Given the description of an element on the screen output the (x, y) to click on. 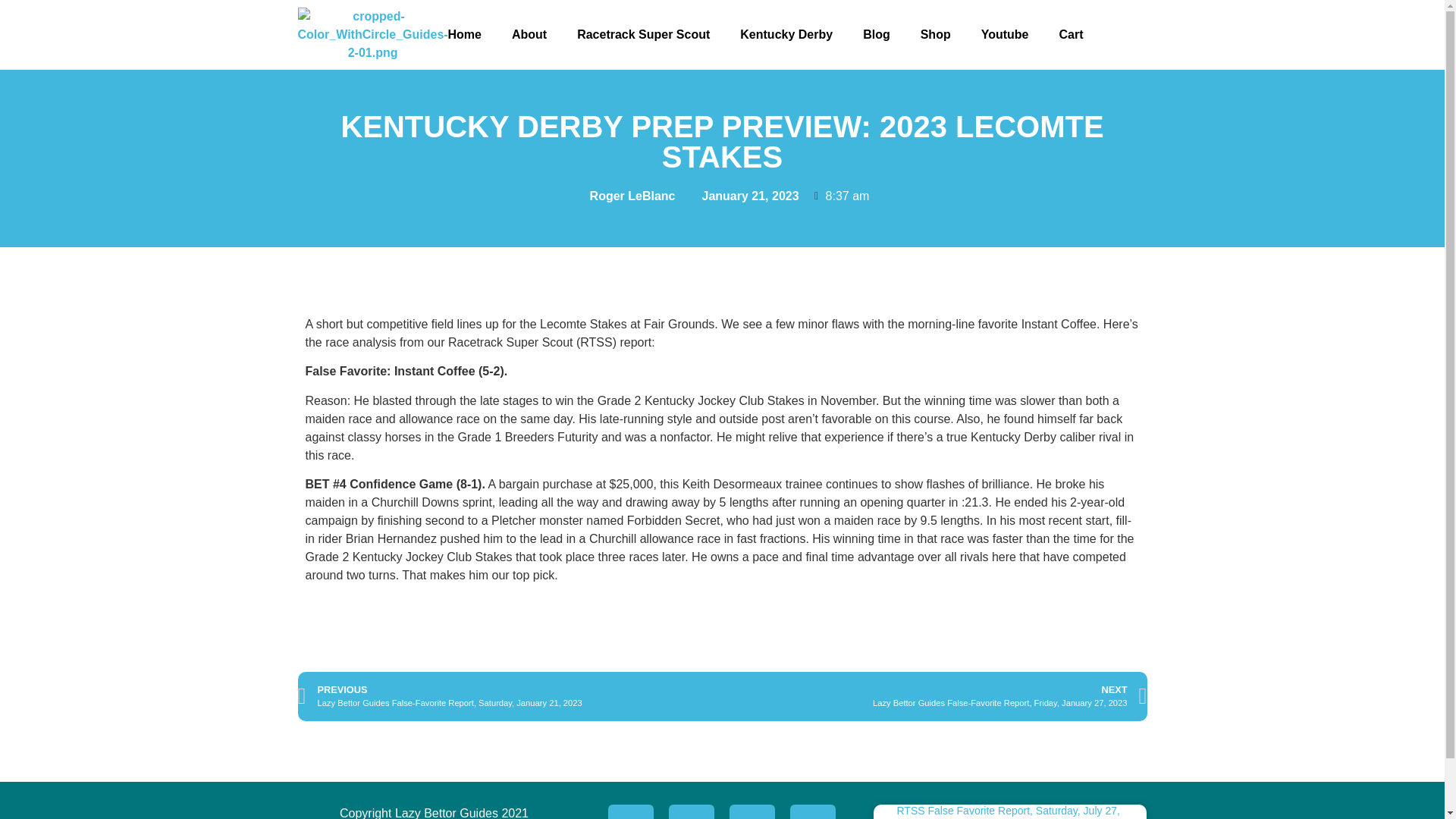
Youtube (1004, 34)
Shop (935, 34)
Blog (876, 34)
Roger LeBlanc (625, 196)
About (529, 34)
January 21, 2023 (742, 196)
Home (464, 34)
Kentucky Derby (786, 34)
RTSS False Favorite Report, Saturday, July 27, 2024 (1007, 811)
Racetrack Super Scout (643, 34)
Cart (1070, 34)
